Given the description of an element on the screen output the (x, y) to click on. 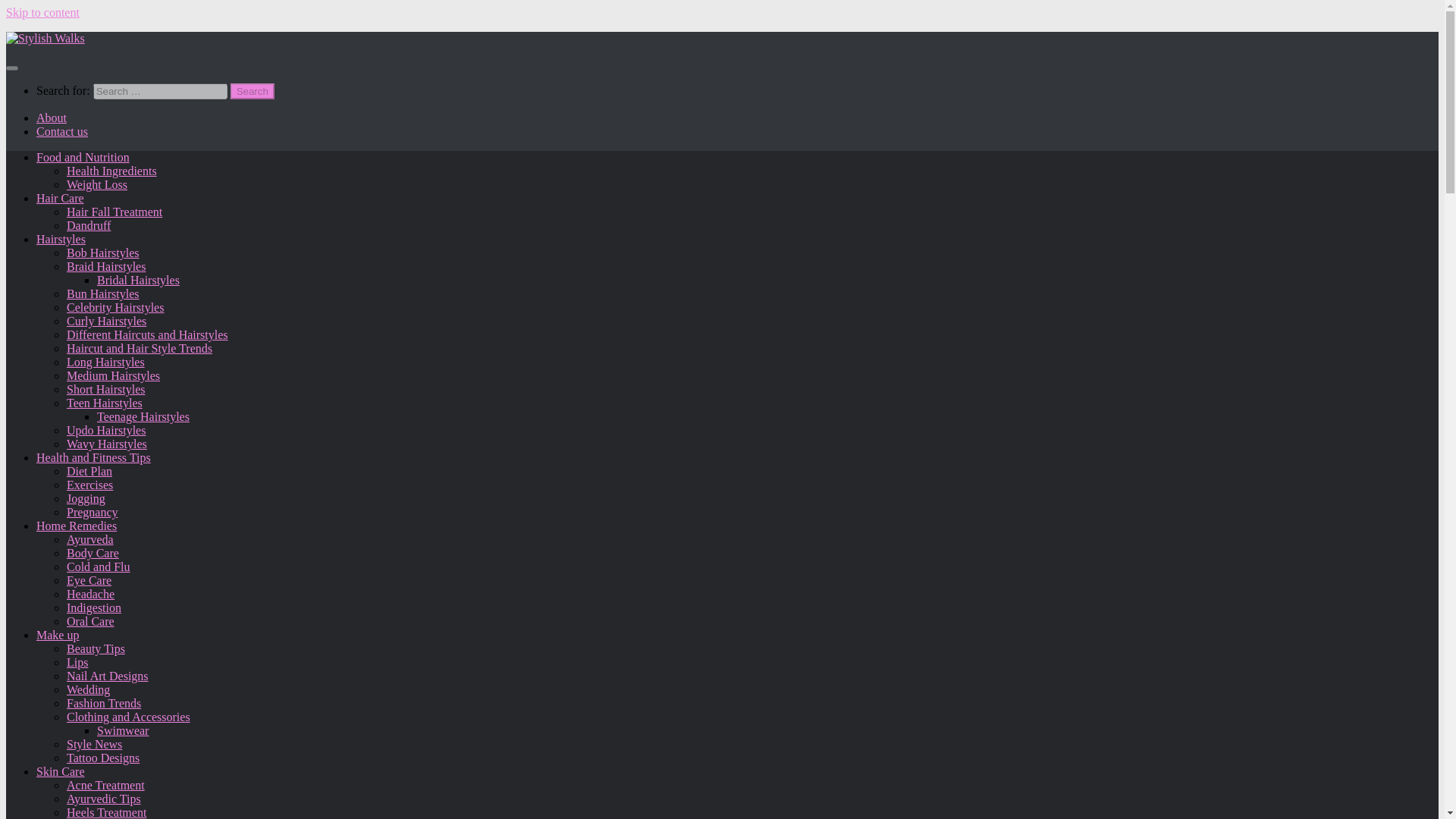
Headache (90, 594)
Home Remedies (76, 525)
Exercises (89, 484)
Teen Hairstyles (104, 402)
Skip to content (42, 11)
Updo Hairstyles (105, 430)
Contact us (61, 131)
Health Ingredients (111, 170)
Celebrity Hairstyles (114, 307)
Food and Nutrition (82, 156)
